Given the description of an element on the screen output the (x, y) to click on. 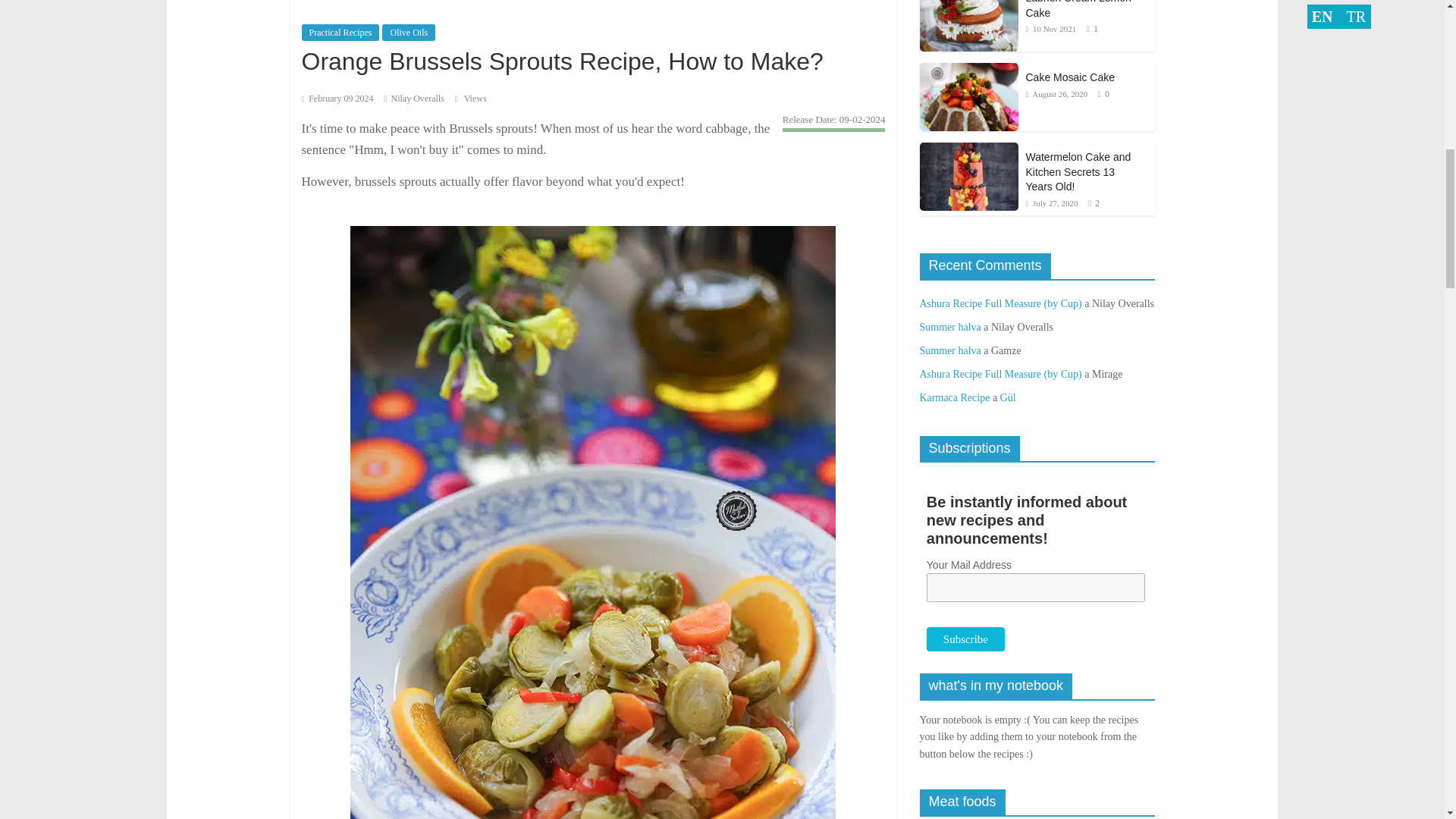
22:23 (1050, 28)
23:21 (337, 98)
Olive Oils (408, 32)
Subscribe (965, 639)
Labneh Cream Lemon Cake (1078, 9)
February 09 2024 (337, 98)
Nilay Overalls (417, 98)
Practical Recipes (340, 32)
Nilay Overalls (417, 98)
